Given the description of an element on the screen output the (x, y) to click on. 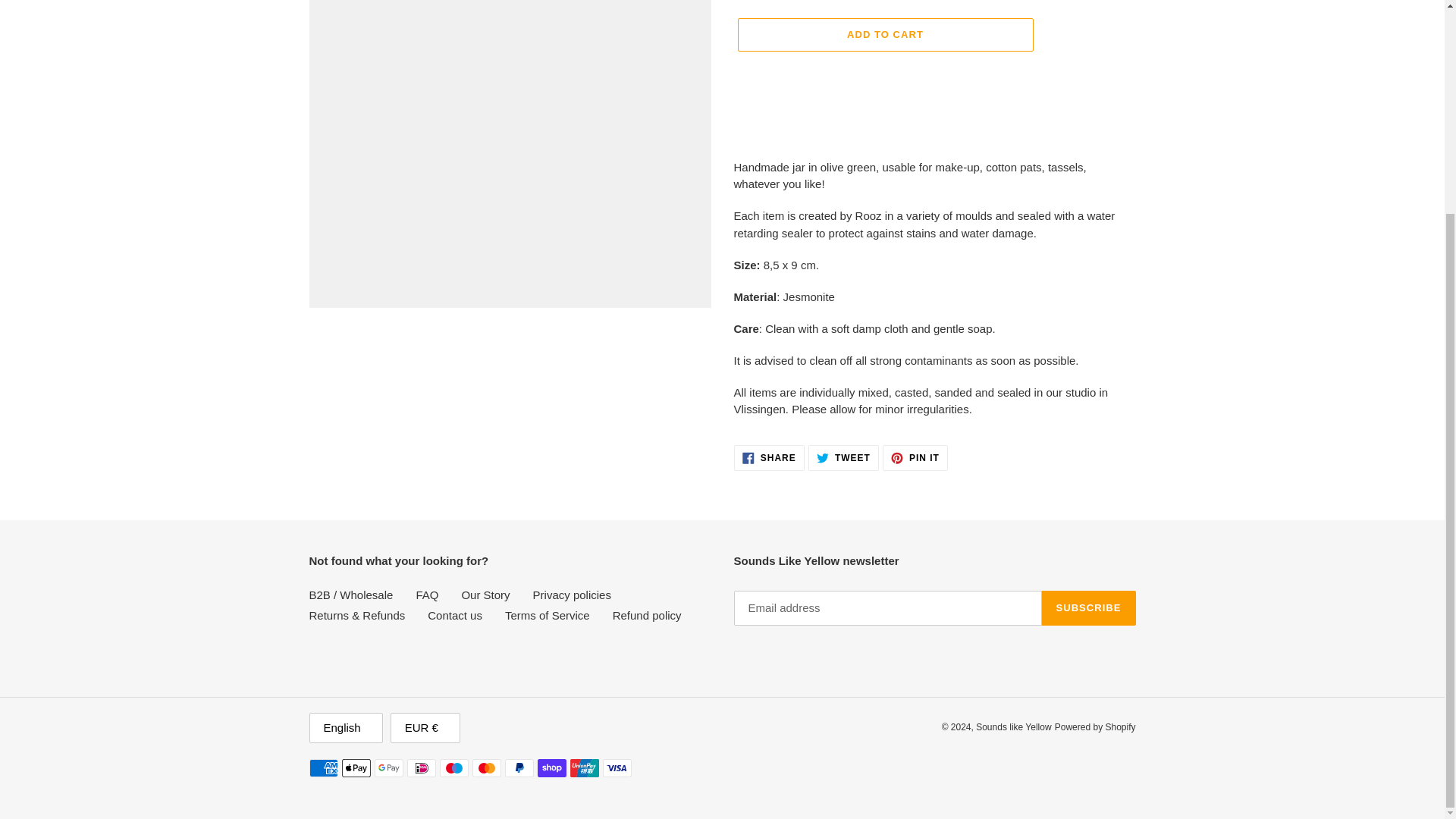
Our Story (843, 457)
FAQ (485, 594)
Terms of Service (769, 457)
Contact us (426, 594)
ADD TO CART (547, 615)
Refund policy (454, 615)
Privacy policies (884, 34)
